Given the description of an element on the screen output the (x, y) to click on. 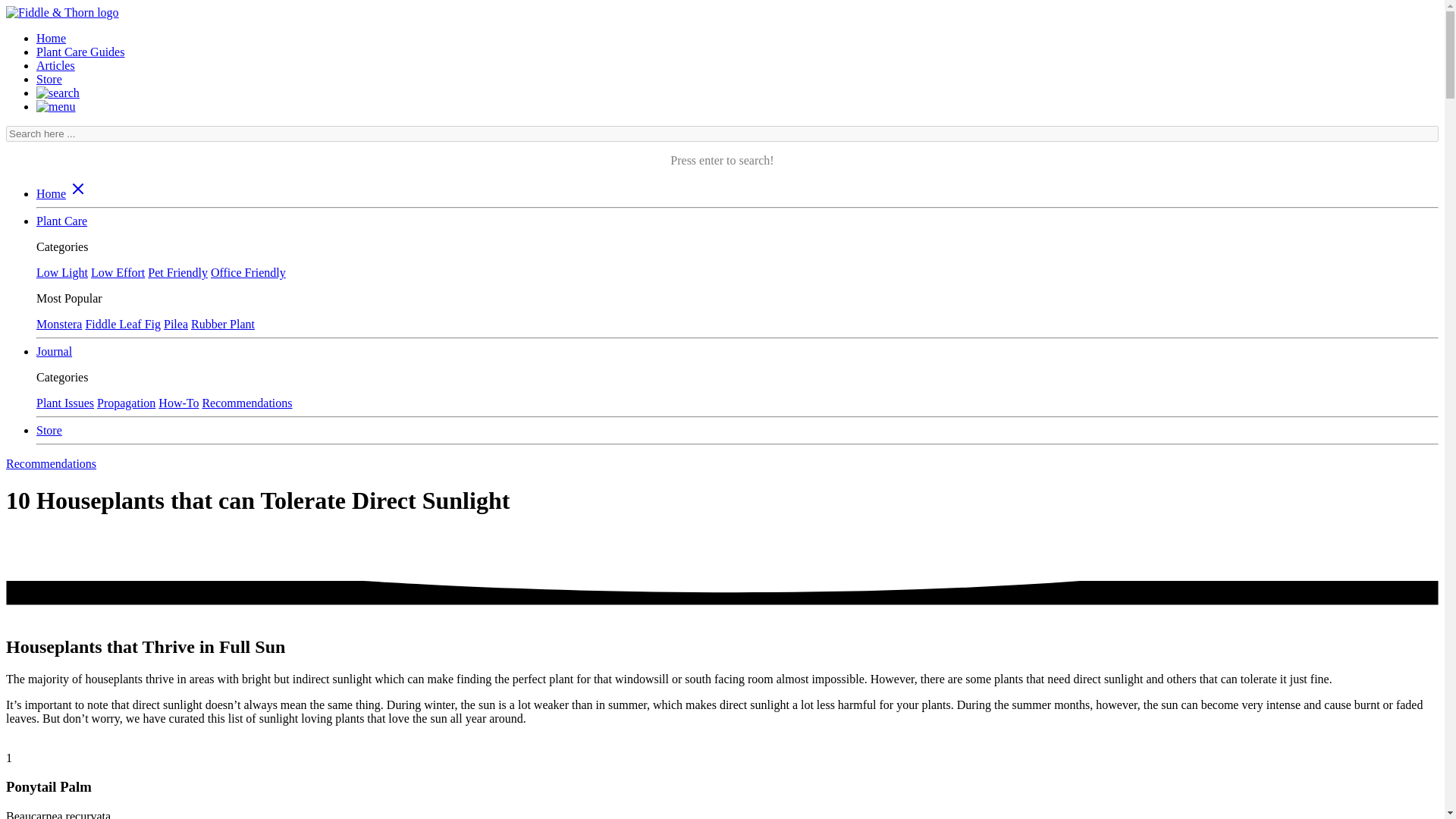
Office Friendly (248, 272)
Propagation (126, 402)
Pet Friendly (178, 272)
Plant Issues (65, 402)
Rubber Plant (222, 323)
Journal (53, 350)
Store (49, 430)
Plant Care Guides (79, 51)
Fiddle Leaf Fig (122, 323)
How-To (178, 402)
Store (49, 78)
Home (50, 193)
Plant Care (61, 220)
Monstera (58, 323)
Home (50, 38)
